Given the description of an element on the screen output the (x, y) to click on. 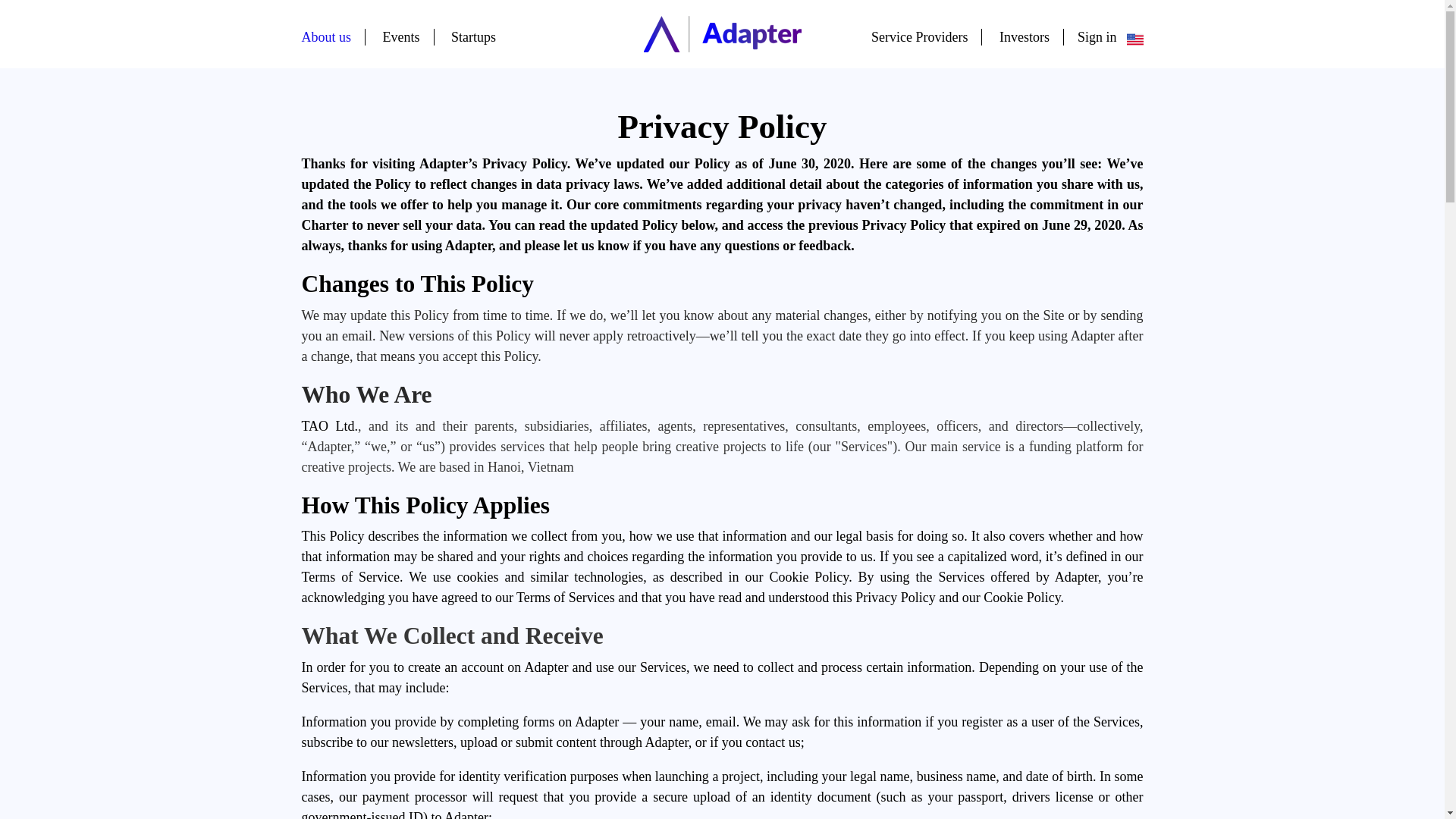
About us (326, 37)
Investors (1023, 37)
Service Providers (919, 37)
Events (401, 37)
Startups (473, 37)
Sign in (1109, 37)
